Given the description of an element on the screen output the (x, y) to click on. 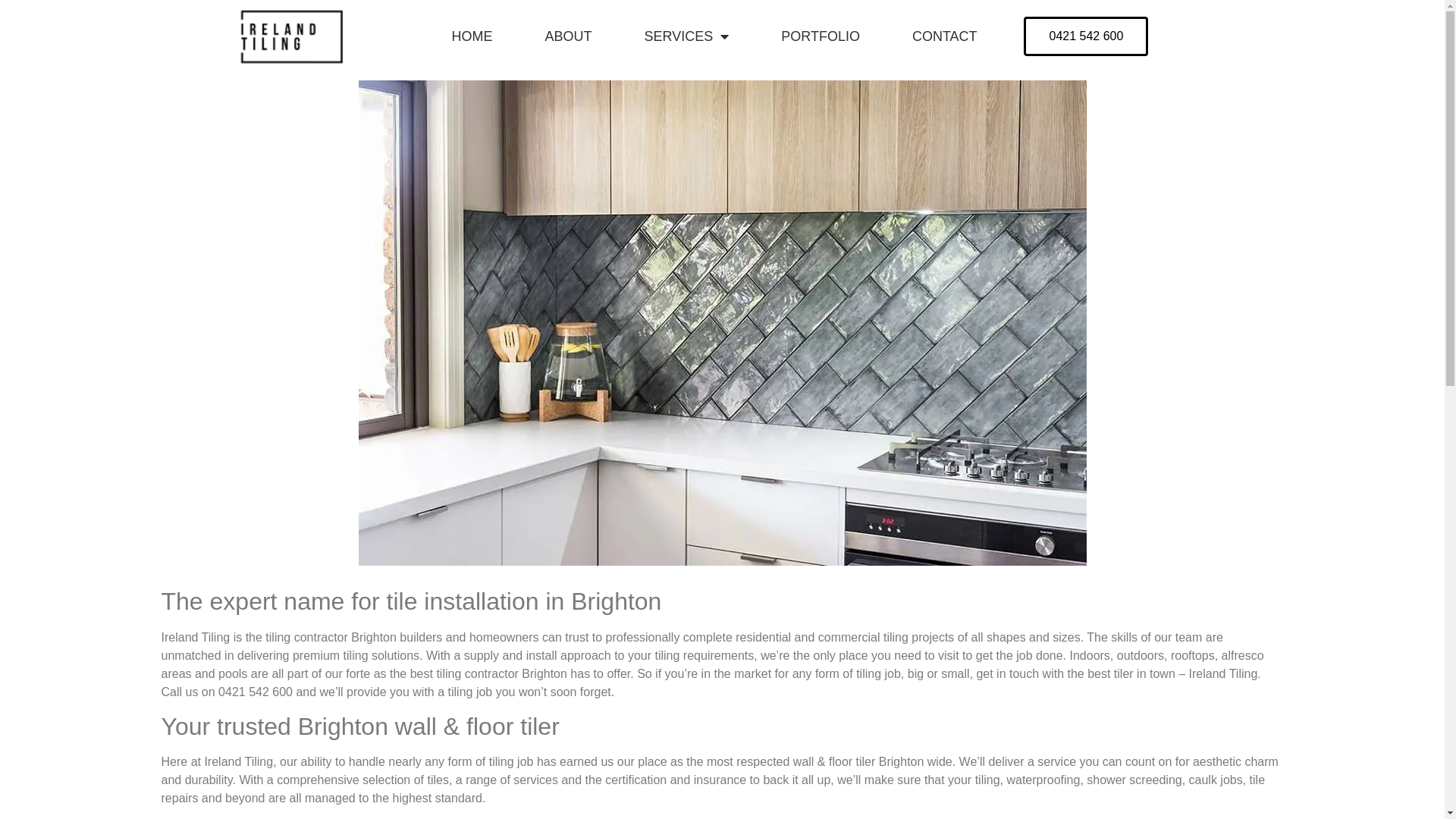
0421 542 600 Element type: text (1085, 36)
PORTFOLIO Element type: text (820, 35)
SERVICES Element type: text (686, 35)
HOME Element type: text (472, 35)
CONTACT Element type: text (944, 35)
ABOUT Element type: text (567, 35)
